Given the description of an element on the screen output the (x, y) to click on. 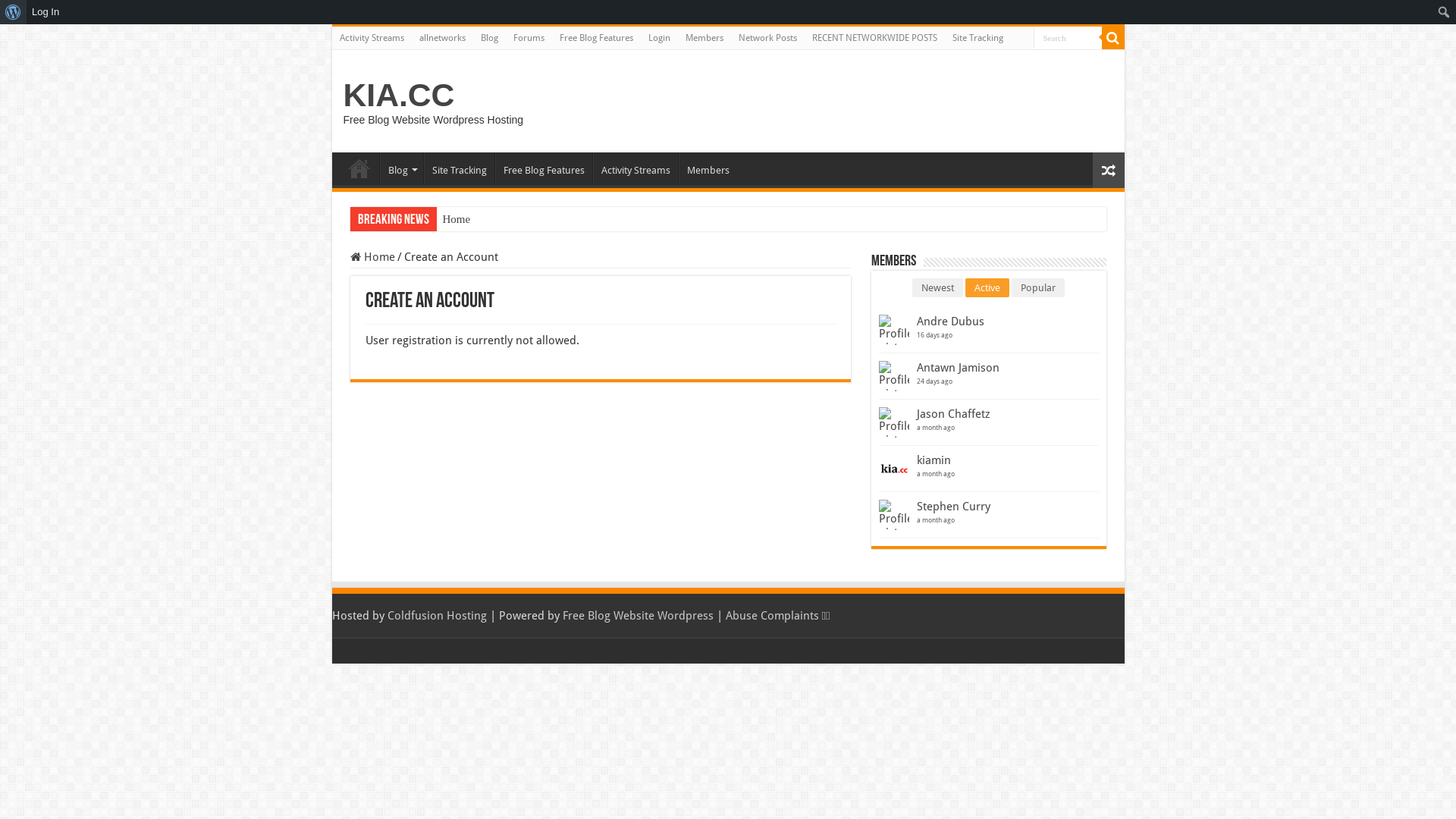
KIA.CC Element type: text (398, 94)
Popular Element type: text (1037, 287)
Home Element type: text (359, 168)
Jason Chaffetz Element type: text (952, 413)
Newest Element type: text (937, 287)
Free Blog Website Wordpress Element type: text (637, 615)
Search Element type: hover (1066, 37)
Free Blog Features Element type: text (596, 37)
Login Element type: text (658, 37)
Activity Streams Element type: text (371, 37)
allnetworks Element type: text (441, 37)
kiamin Element type: text (933, 460)
Search Element type: text (1112, 37)
Search Element type: text (15, 12)
Antawn Jamison Element type: text (957, 367)
Blog Element type: text (400, 168)
Members Element type: text (704, 37)
Home Element type: text (372, 256)
About WordPress Element type: text (13, 12)
Forums Element type: text (528, 37)
Andre Dubus Element type: text (949, 321)
Home Element type: text (456, 219)
Coldfusion Hosting Element type: text (436, 615)
Blog Element type: text (489, 37)
Site Tracking Element type: text (977, 37)
RECENT NETWORKWIDE POSTS Element type: text (873, 37)
Members Element type: text (706, 168)
Stephen Curry Element type: text (952, 506)
Free Blog Features Element type: text (542, 168)
Log In Element type: text (45, 12)
Network Posts Element type: text (767, 37)
Site Tracking Element type: text (458, 168)
Active Element type: text (987, 287)
Activity Streams Element type: text (635, 168)
